Given the description of an element on the screen output the (x, y) to click on. 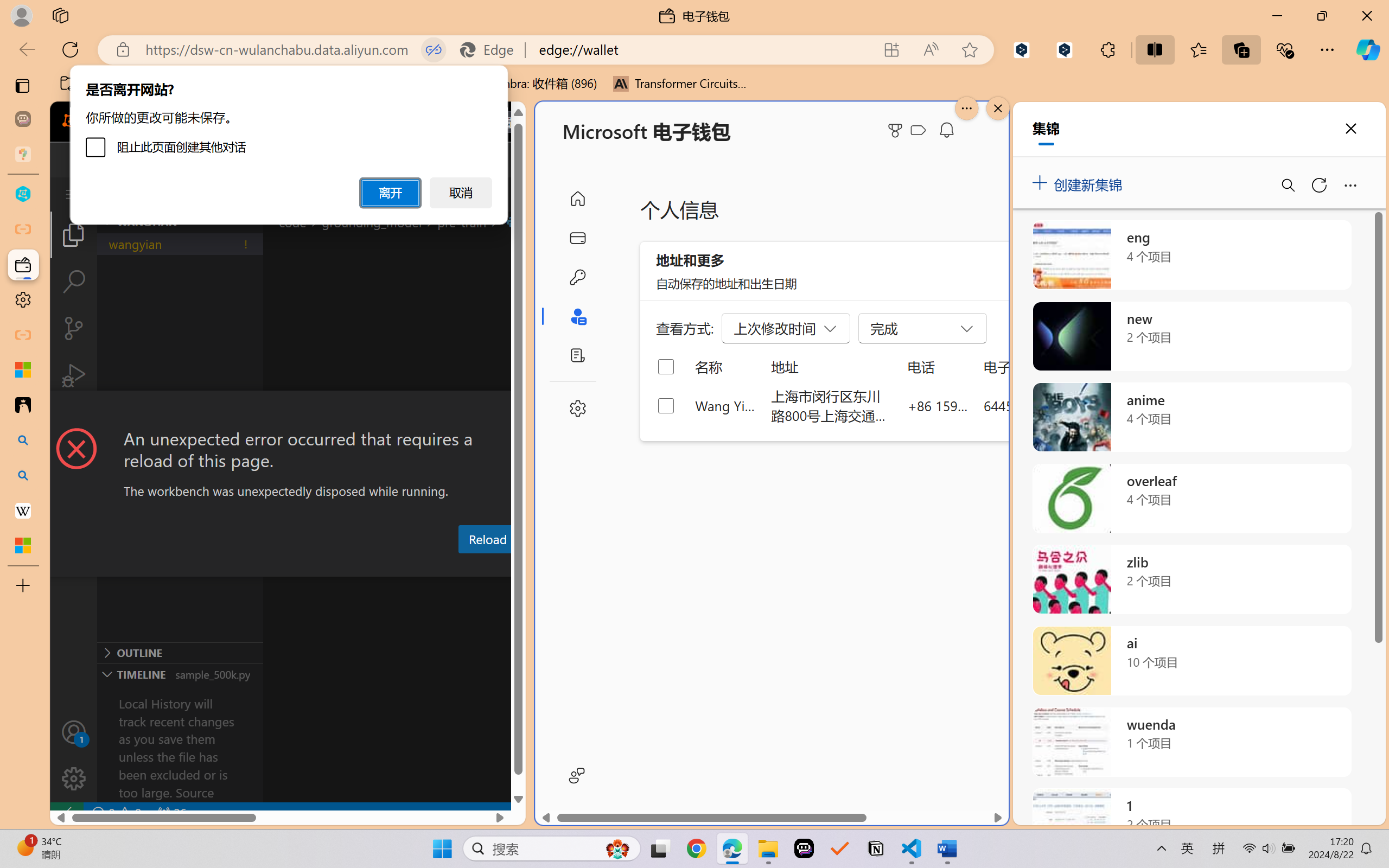
Extensions (Ctrl+Shift+X) (73, 422)
Wang Yian (725, 405)
644553698@qq.com (1043, 405)
Run and Debug (Ctrl+Shift+D) (73, 375)
Close Dialog (520, 410)
